Given the description of an element on the screen output the (x, y) to click on. 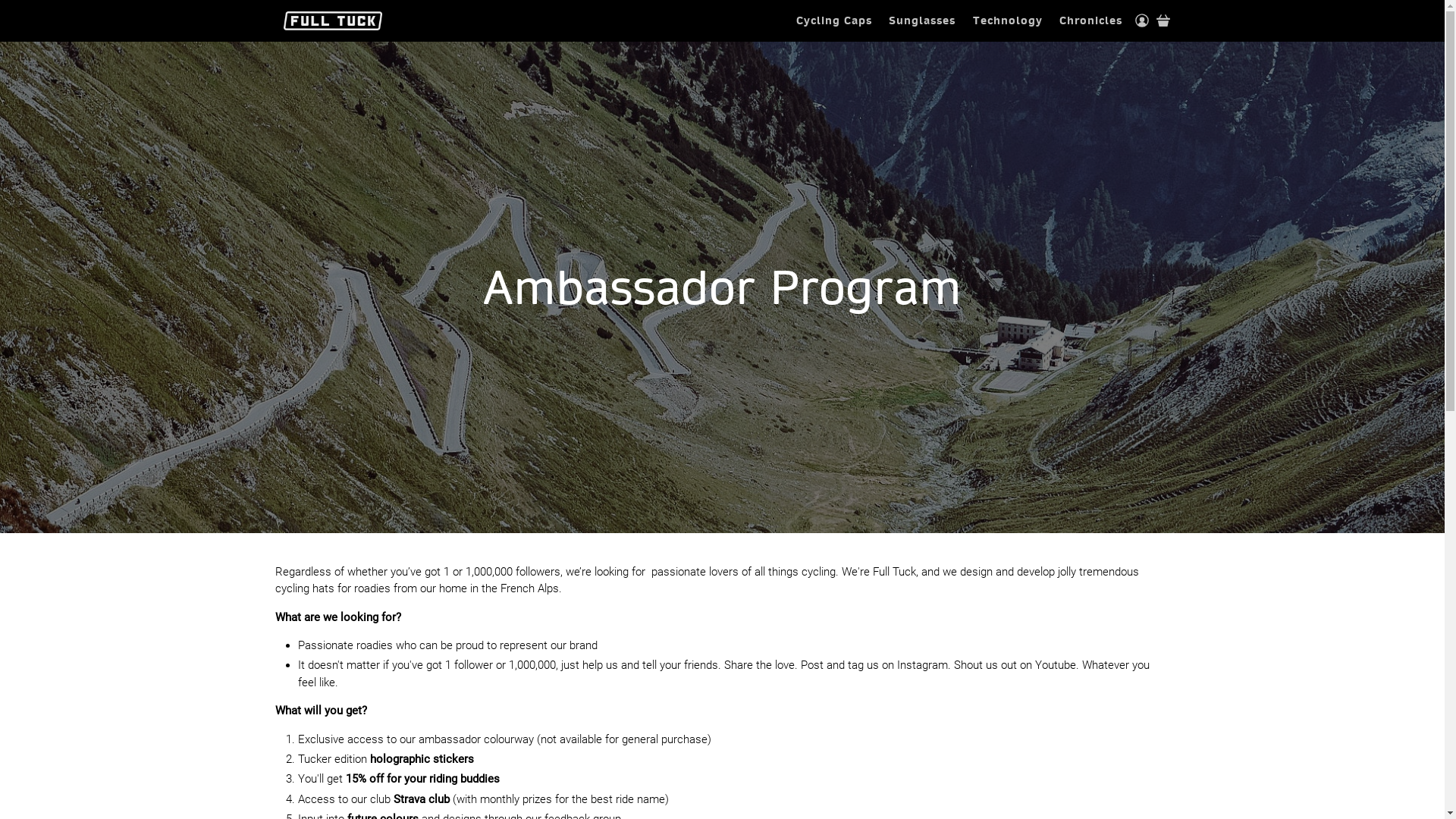
Technology Element type: text (1007, 20)
Sunglasses Element type: text (922, 20)
Cycling Caps Element type: text (833, 20)
Chronicles Element type: text (1091, 20)
FullTuck  Element type: hover (332, 20)
